Given the description of an element on the screen output the (x, y) to click on. 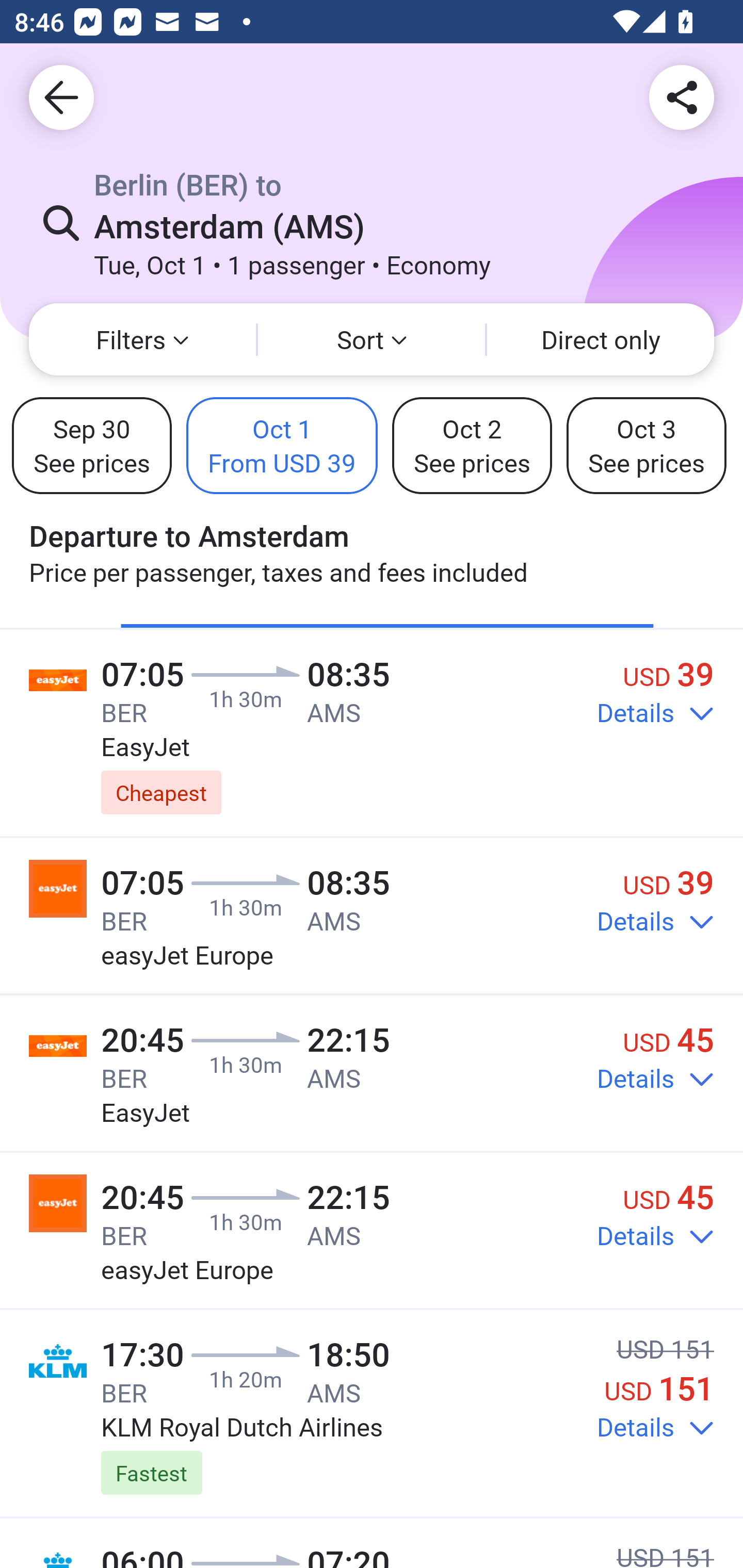
Filters (141, 339)
Sort (371, 339)
Direct only (600, 339)
Sep 30 See prices (91, 444)
Oct 1 From USD 39 (281, 444)
Oct 2 See prices (472, 444)
Oct 3 See prices (646, 444)
